Given the description of an element on the screen output the (x, y) to click on. 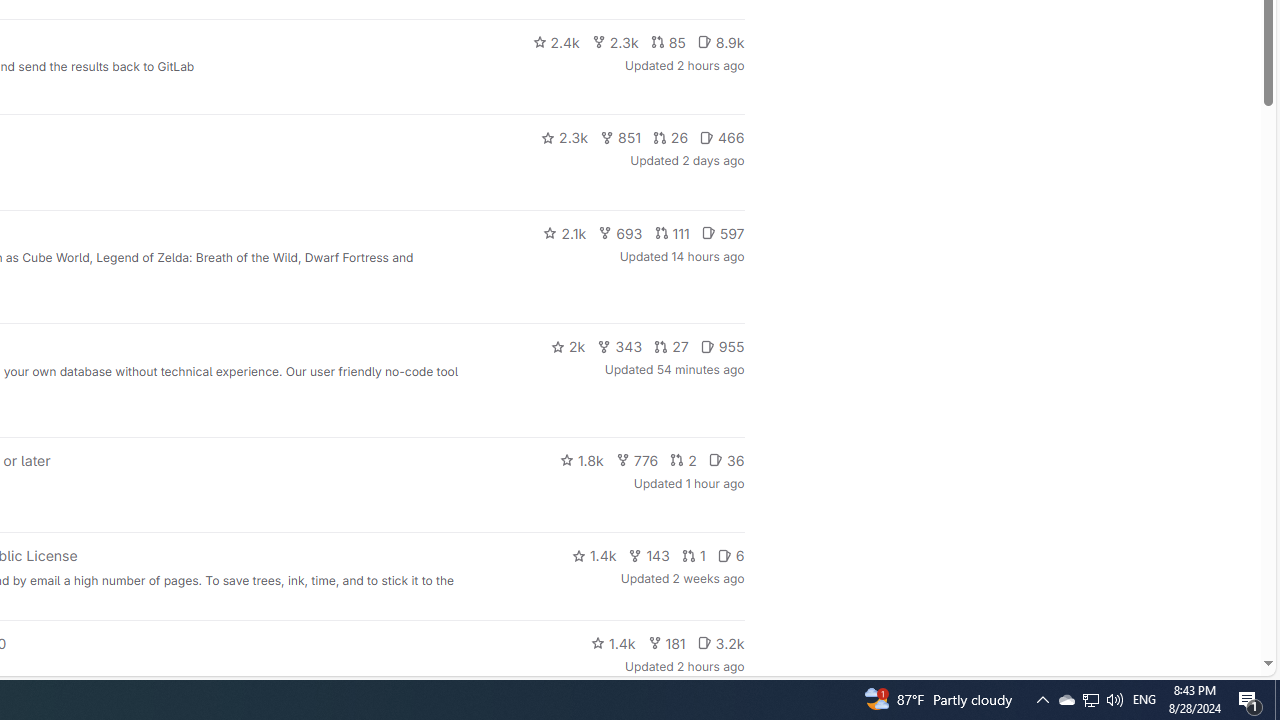
955 (722, 346)
26 (669, 137)
111 (671, 232)
1.4k (613, 642)
1 (694, 556)
Class: s14 gl-mr-2 (704, 642)
6 (730, 556)
2.1k (564, 232)
466 (722, 137)
36 (725, 459)
2.4k (555, 41)
